Given the description of an element on the screen output the (x, y) to click on. 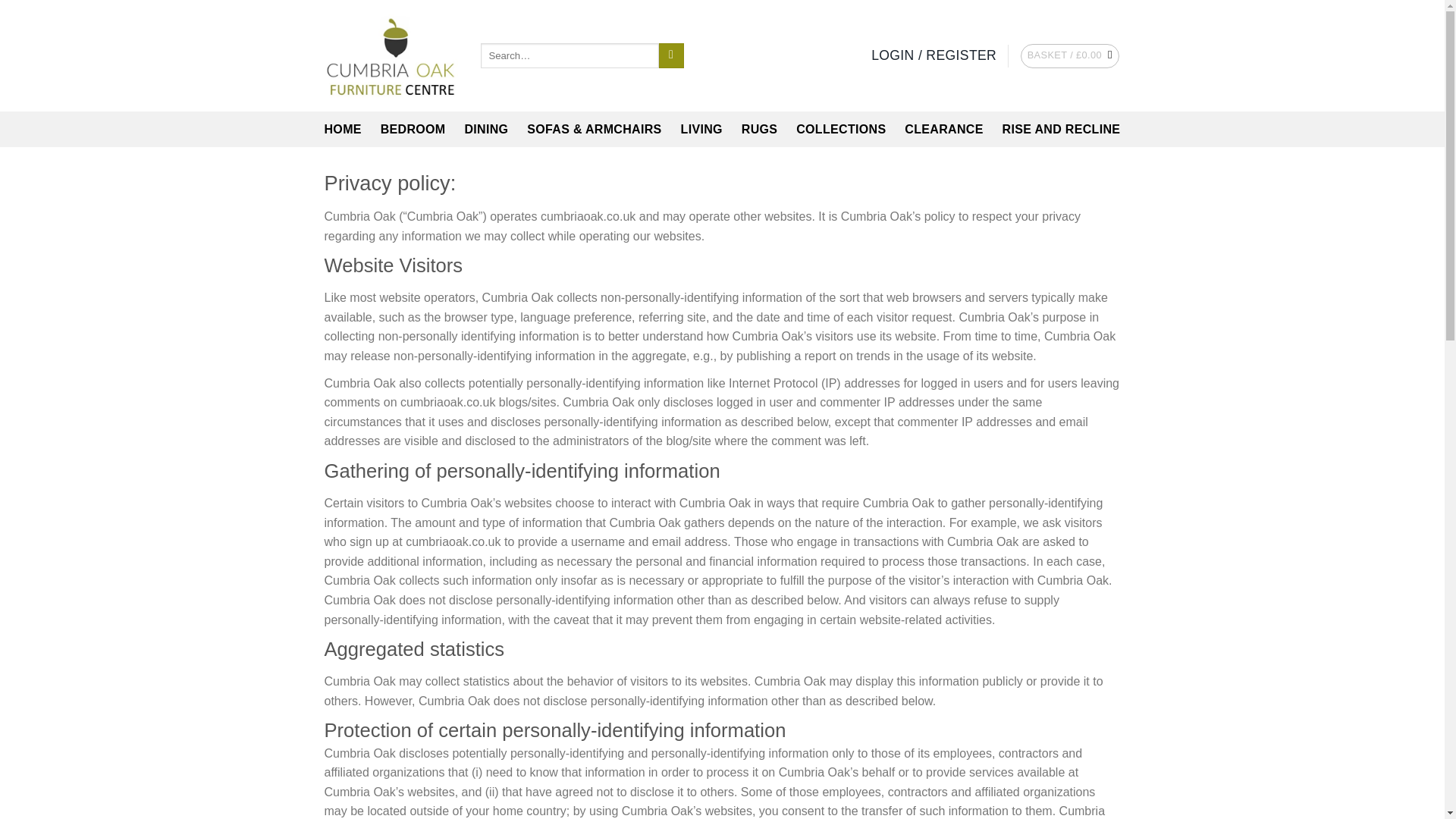
RUGS (759, 129)
RISE AND RECLINE (1062, 129)
BEDROOM (412, 129)
COLLECTIONS (840, 129)
Basket (1069, 55)
Cumbria Oak - Cumbria Oak (391, 55)
HOME (342, 129)
LIVING (701, 129)
CLEARANCE (943, 129)
DINING (486, 129)
